Given the description of an element on the screen output the (x, y) to click on. 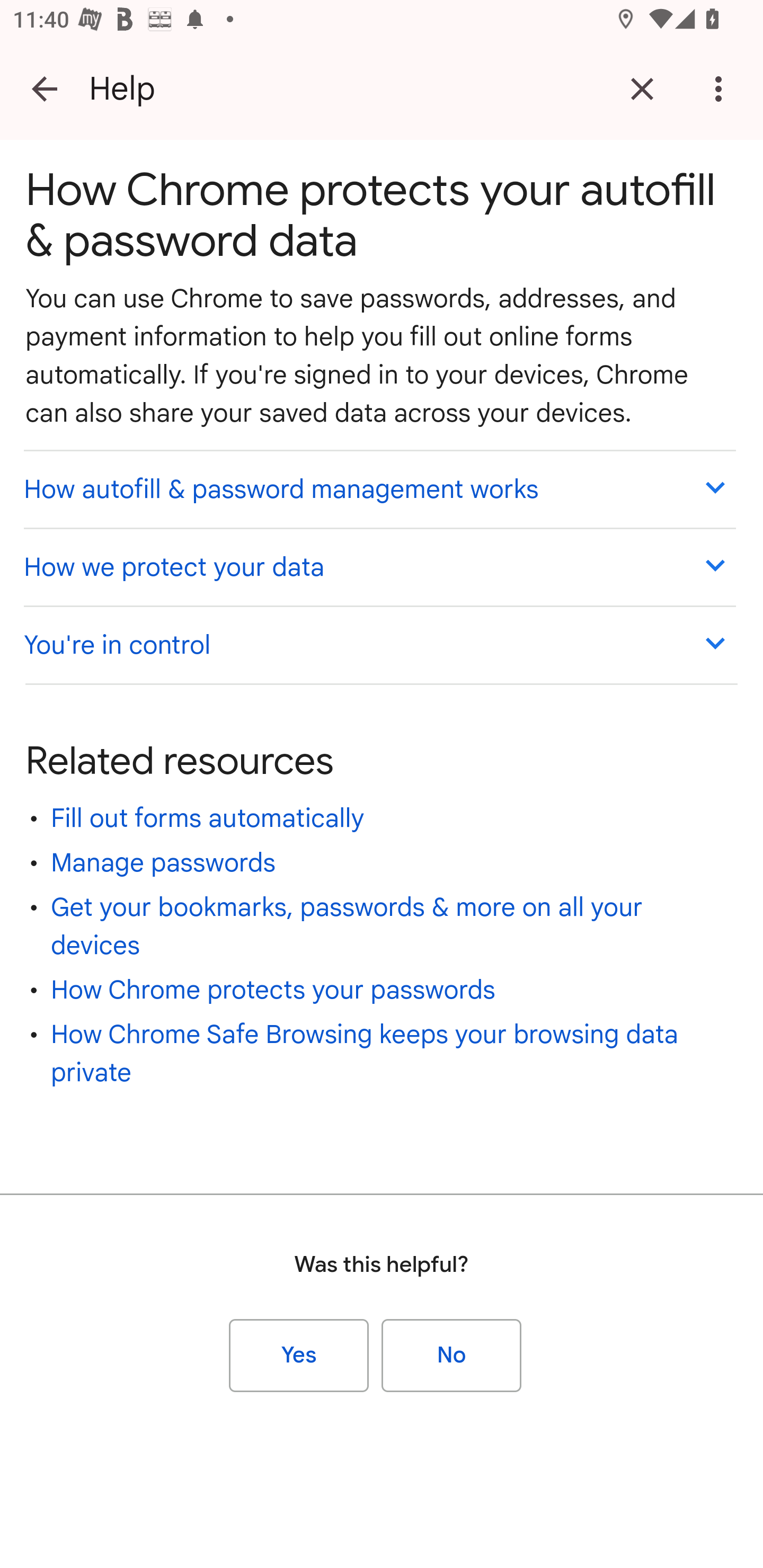
Navigate up (44, 88)
Return to Chrome (642, 88)
More options (721, 88)
How autofill & password management works (379, 488)
How we protect your data (379, 565)
You're in control (379, 644)
Fill out forms automatically (208, 818)
Manage passwords (163, 862)
How Chrome protects your passwords (273, 989)
Yes (Was this helpful?) (298, 1355)
No (Was this helpful?) (451, 1355)
